Given the description of an element on the screen output the (x, y) to click on. 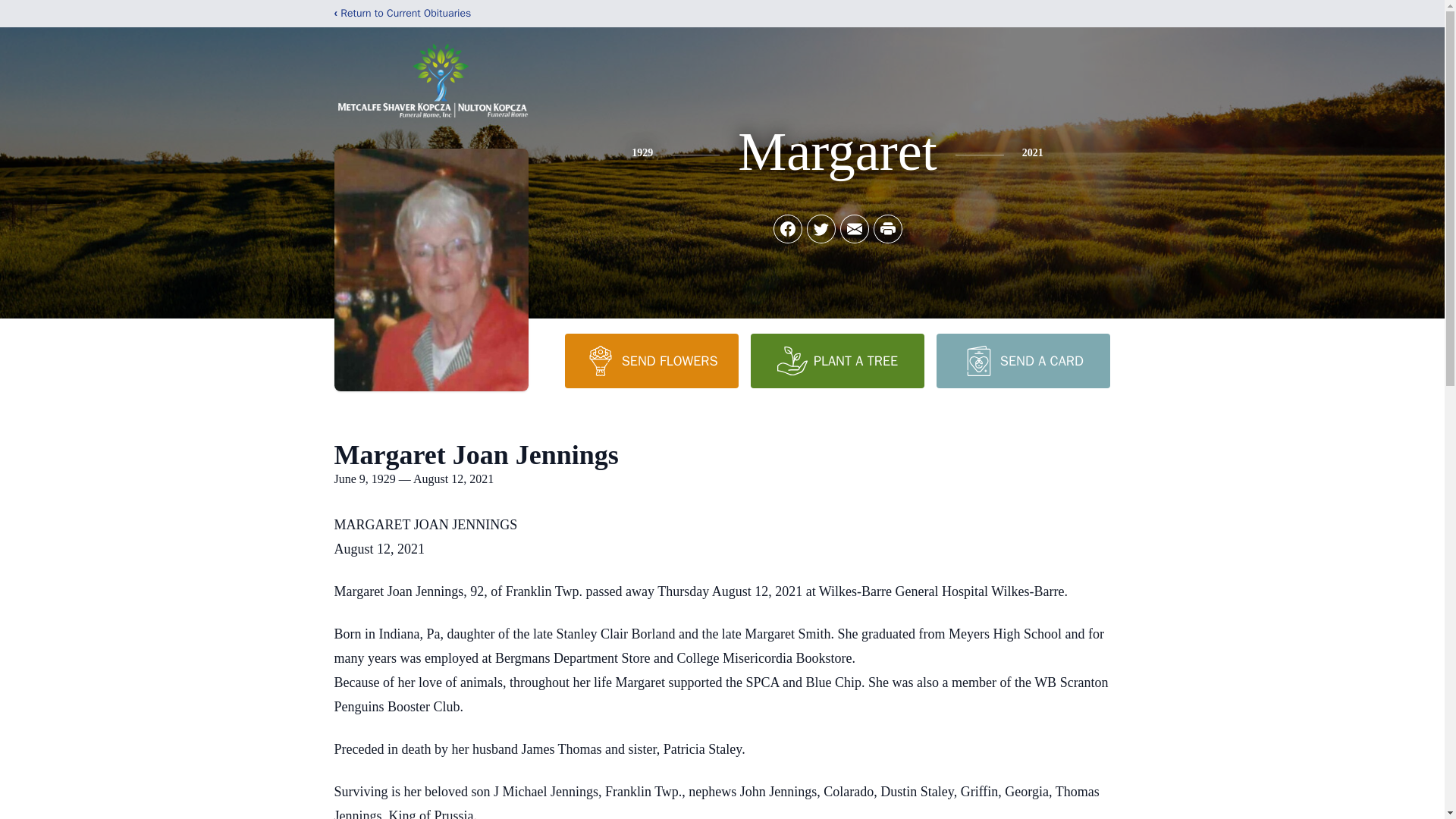
PLANT A TREE (837, 360)
SEND FLOWERS (651, 360)
SEND A CARD (1022, 360)
